Given the description of an element on the screen output the (x, y) to click on. 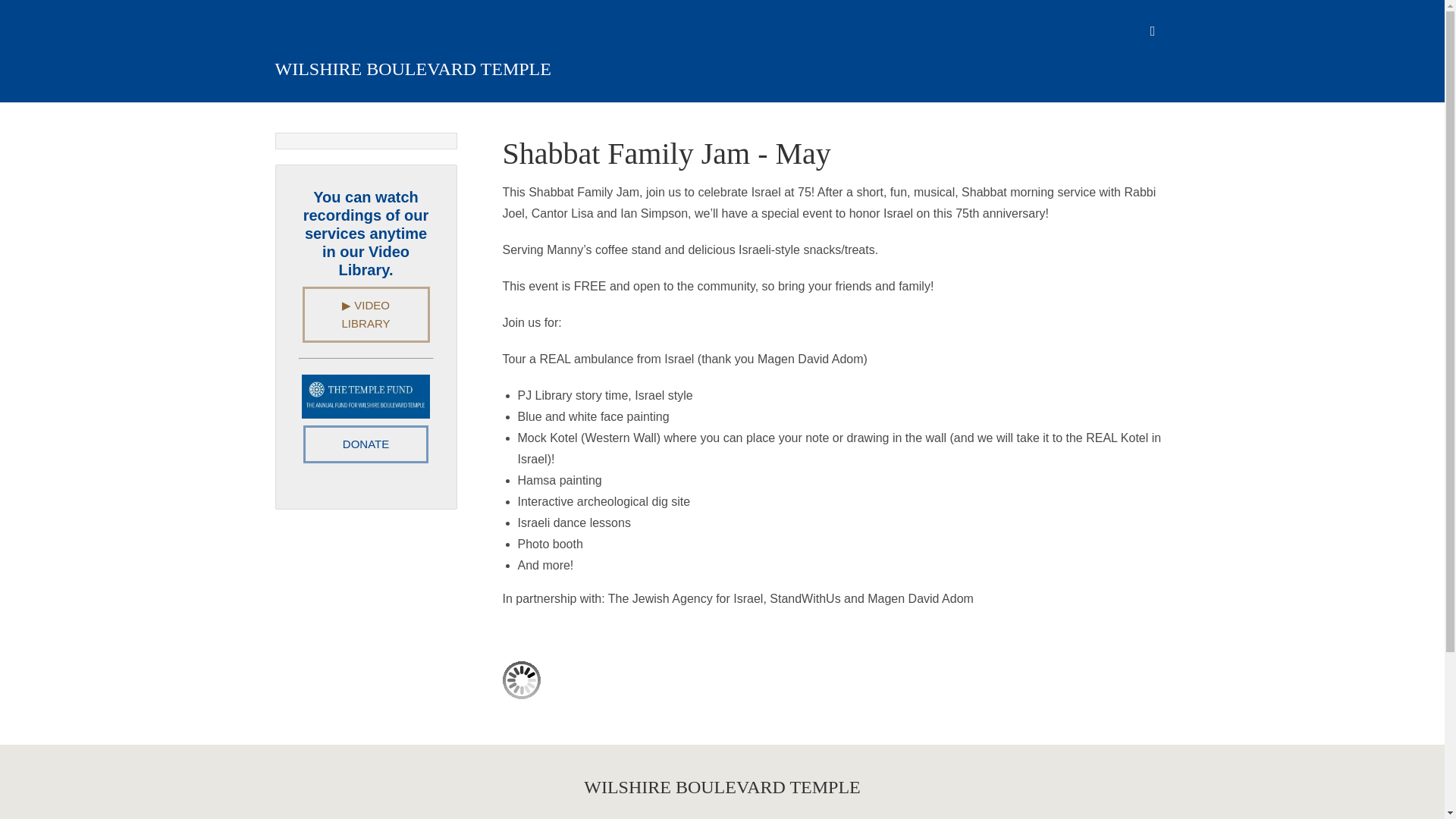
DONATE (365, 444)
WILSHIRE BOULEVARD TEMPLE (412, 68)
